Given the description of an element on the screen output the (x, y) to click on. 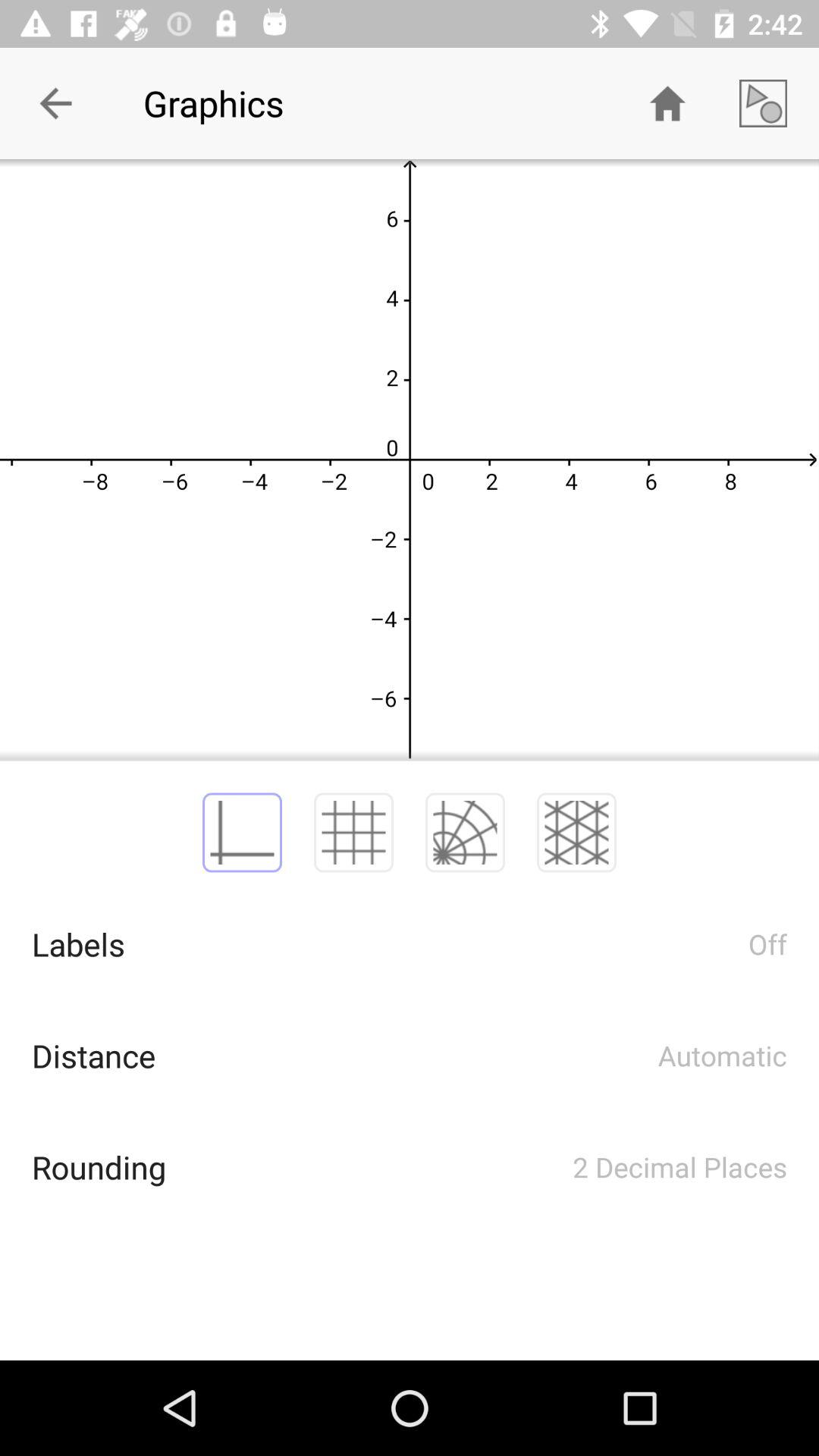
click on the third icon just above the text labels (465, 832)
click the right side above corner button (763, 103)
click on the perpendicular axis line (241, 832)
select the icon which is at the top left corner (56, 103)
click on the fourth icon above text labels (576, 832)
click on 2nd image which is above the labels (353, 832)
